Given the description of an element on the screen output the (x, y) to click on. 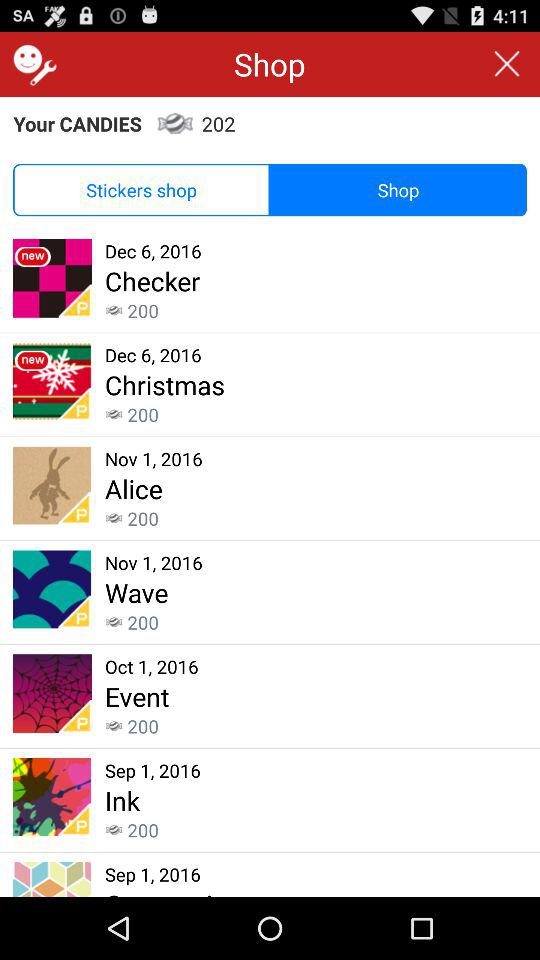
select the item above the 200 item (122, 800)
